Given the description of an element on the screen output the (x, y) to click on. 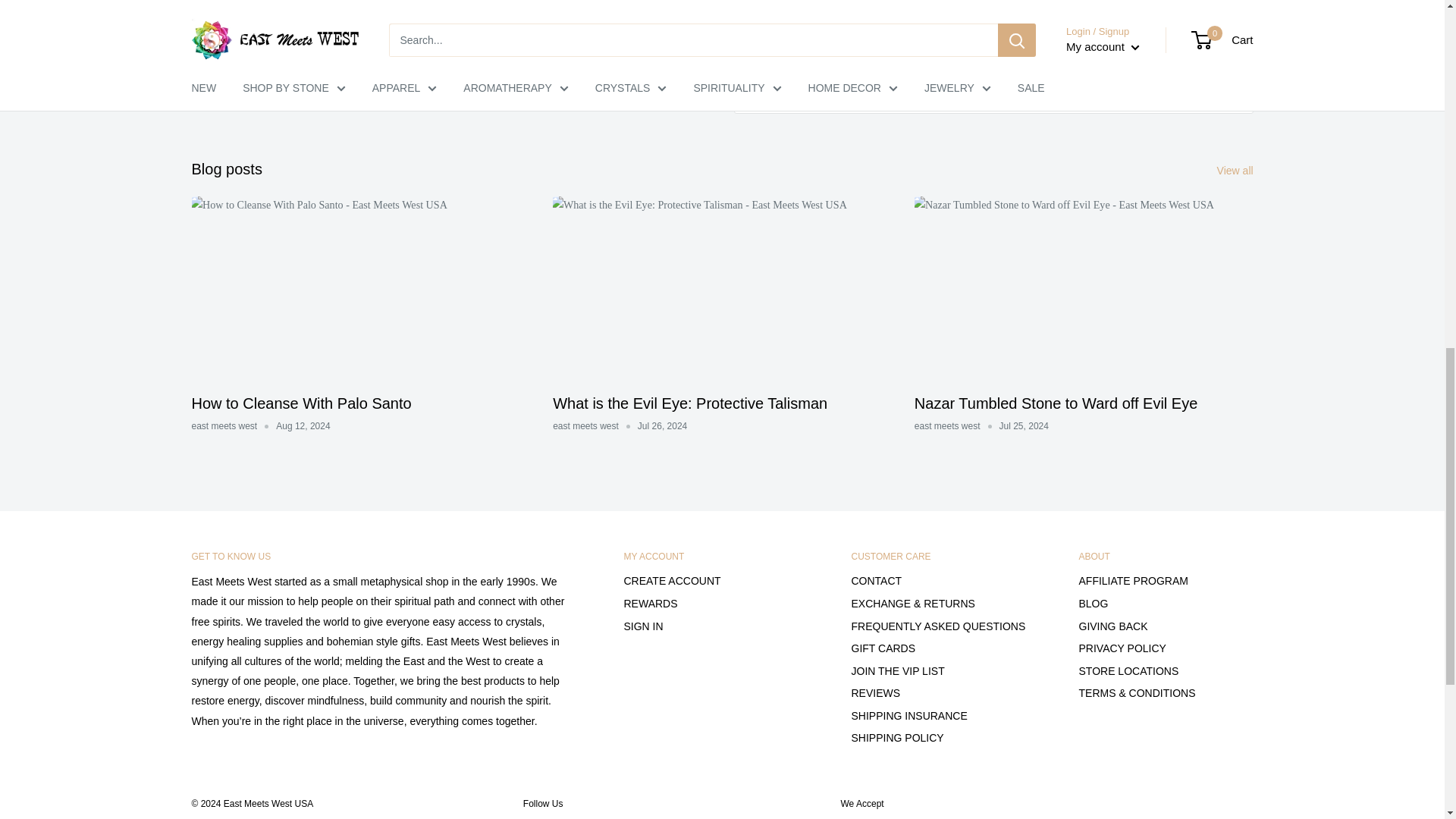
Add to wishlist (992, 70)
